Given the description of an element on the screen output the (x, y) to click on. 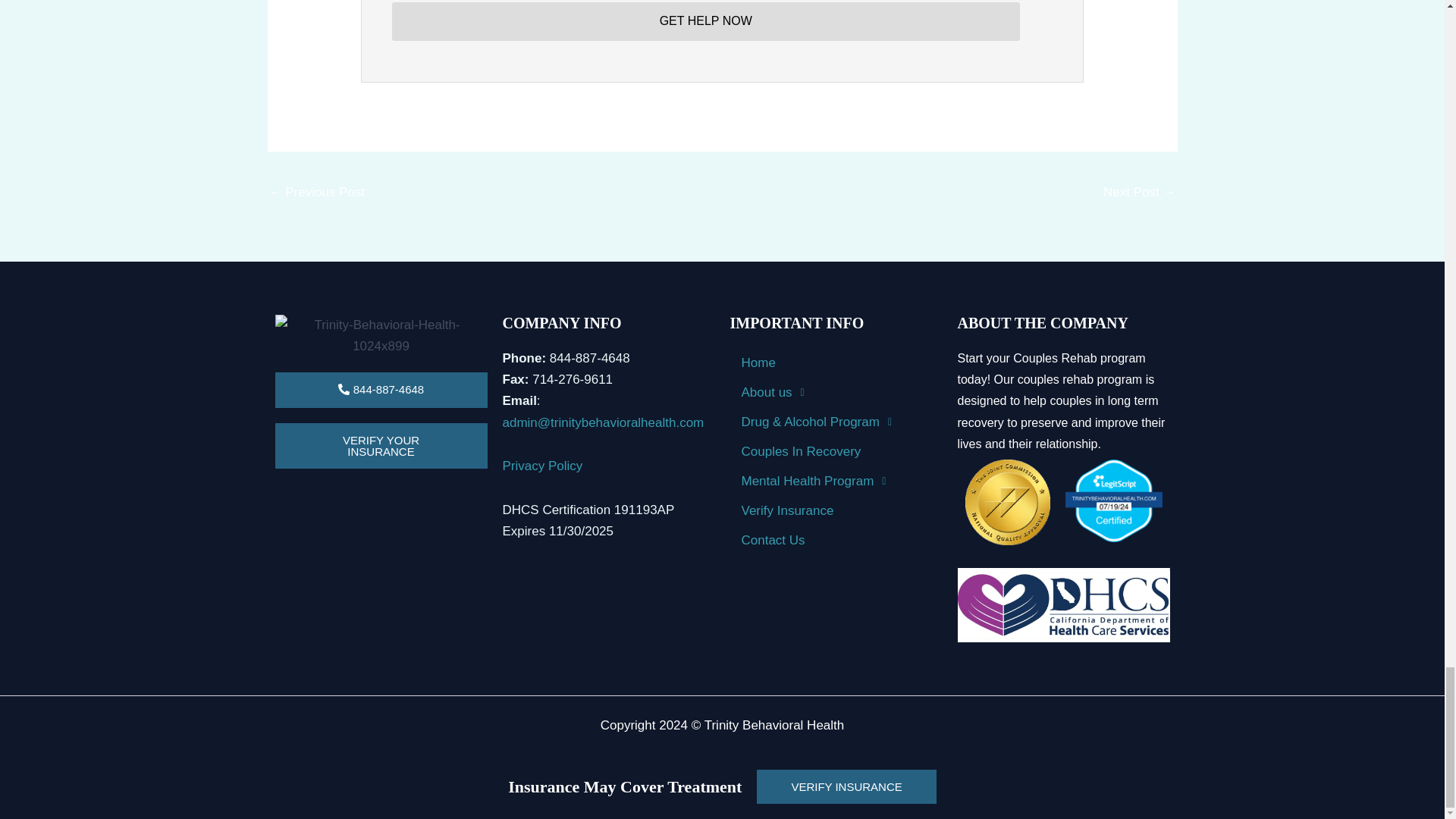
Get Help Now (705, 21)
Get Help Now (705, 21)
About us (835, 392)
Home (835, 362)
VERIFY YOUR INSURANCE (380, 445)
Verify LegitScript Approval (1113, 499)
844-887-4648 (380, 389)
Privacy Policy (542, 465)
